Given the description of an element on the screen output the (x, y) to click on. 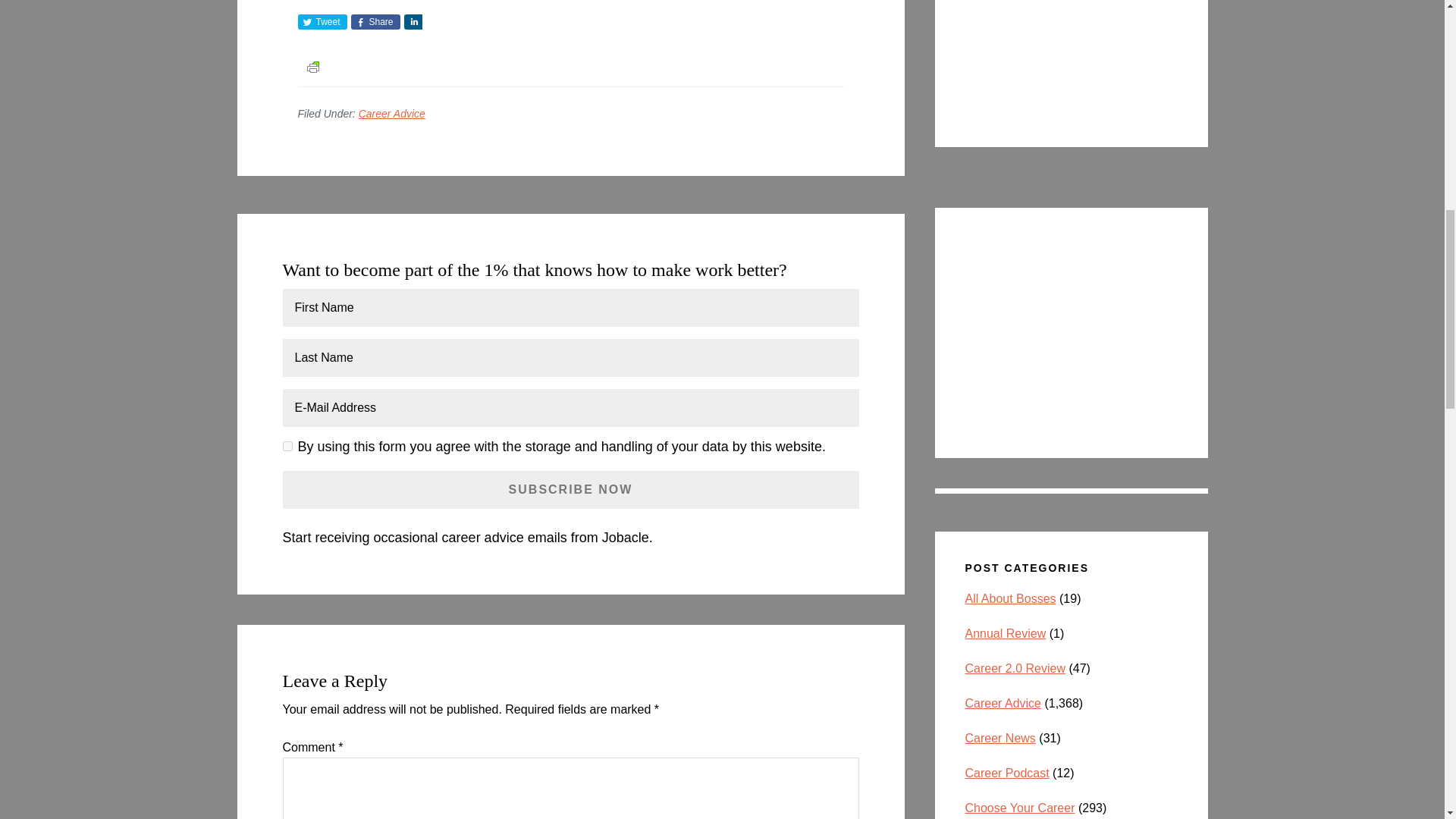
Share (412, 21)
SUBSCRIBE NOW (570, 489)
Career Advice (391, 113)
Tweet (321, 21)
Share (374, 21)
checked (287, 446)
SUBSCRIBE NOW (570, 489)
